Given the description of an element on the screen output the (x, y) to click on. 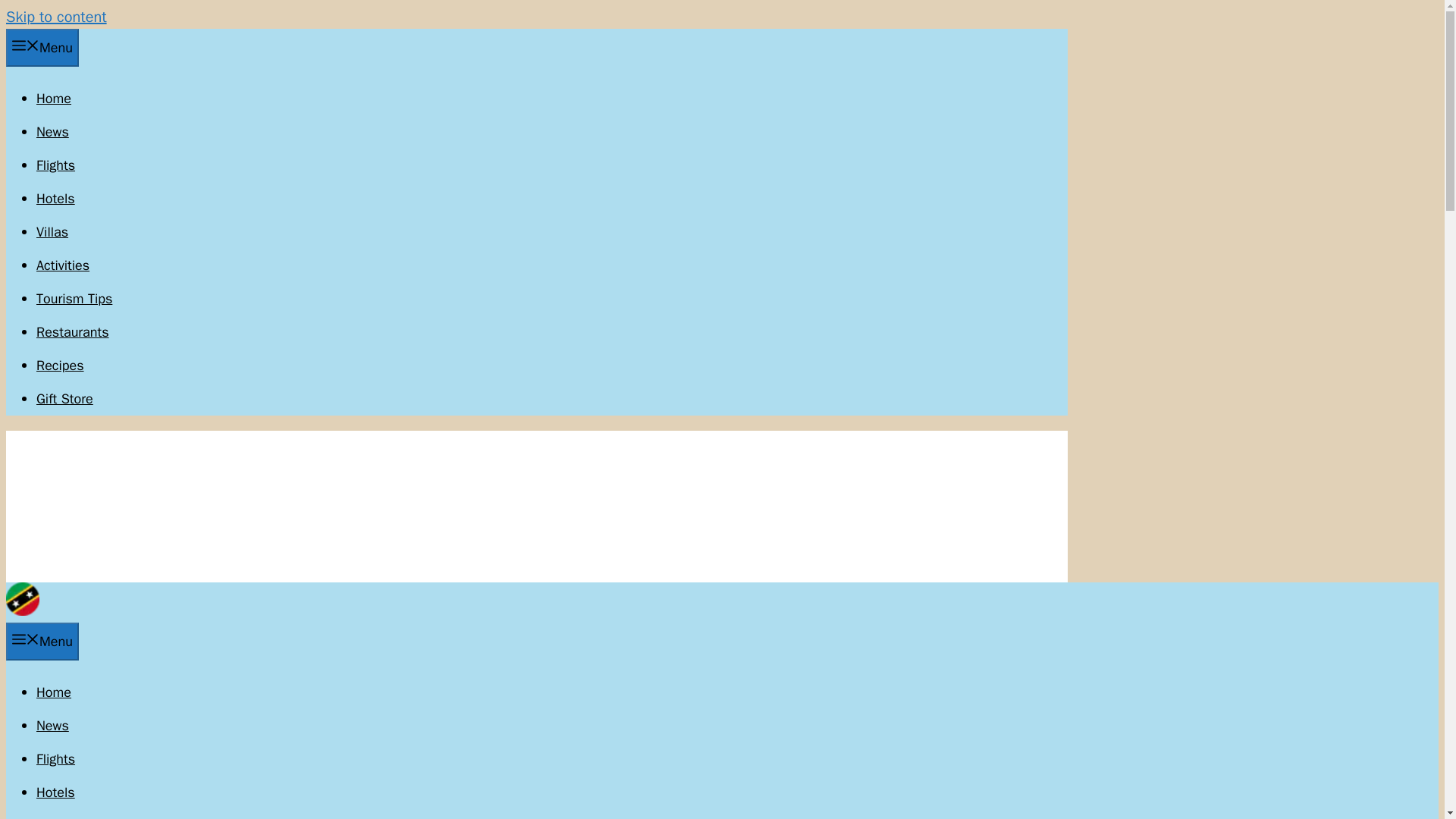
Hotels (55, 198)
Skip to content (55, 16)
Hotels (55, 791)
Home (53, 692)
Nevis Restaurants (72, 331)
Nevis Villa Rentals (52, 231)
Flights (55, 165)
Nevis Island News and Notes (22, 610)
Villas (52, 231)
Restaurants (72, 331)
Nevis Flight Information (55, 165)
Menu (41, 47)
Activities (62, 265)
Recipes (60, 365)
Villas (52, 818)
